Given the description of an element on the screen output the (x, y) to click on. 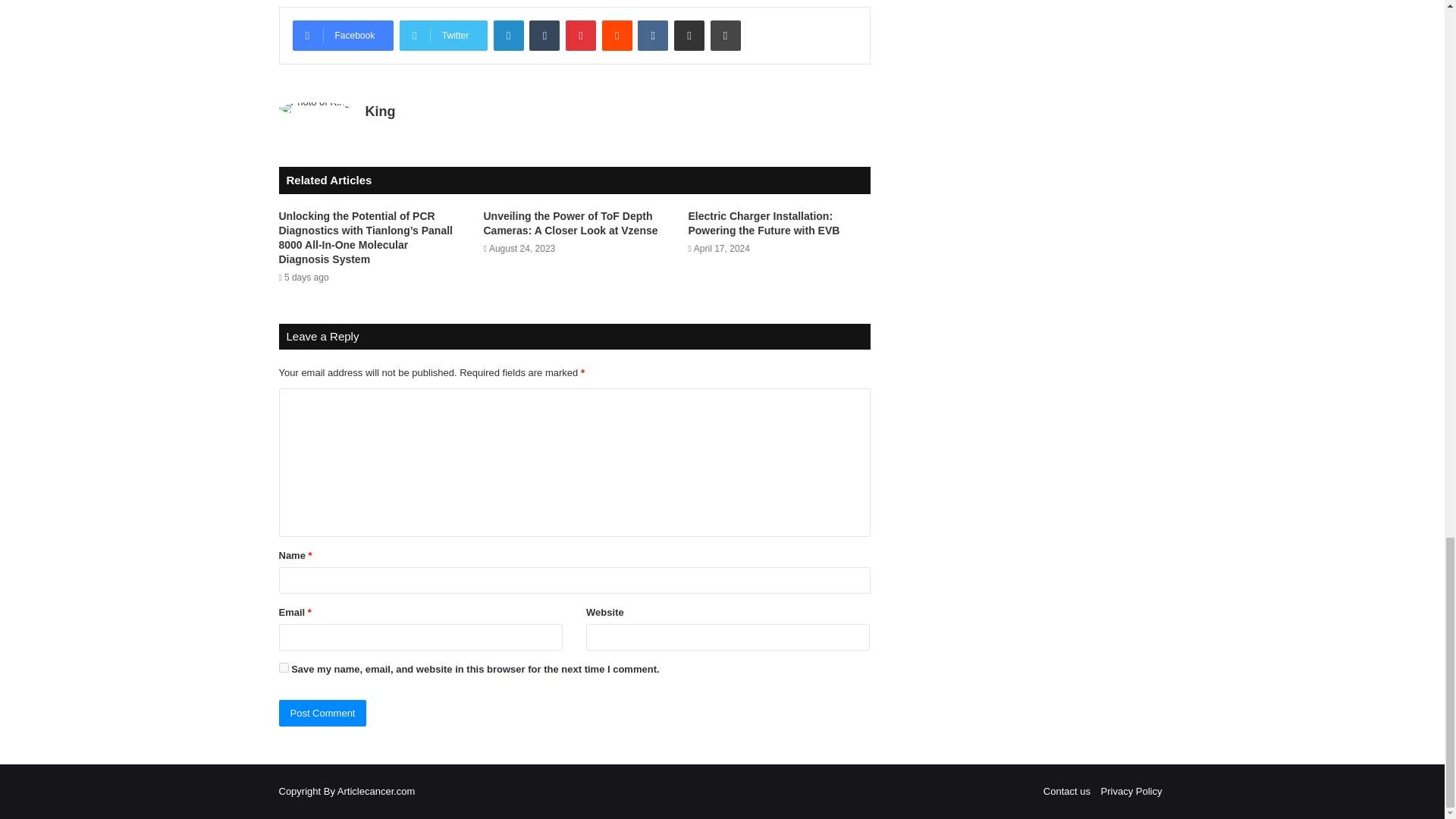
VKontakte (652, 35)
LinkedIn (508, 35)
Print (725, 35)
Tumblr (544, 35)
Pinterest (580, 35)
Share via Email (689, 35)
VKontakte (652, 35)
LinkedIn (508, 35)
Post Comment (322, 713)
Twitter (442, 35)
